Given the description of an element on the screen output the (x, y) to click on. 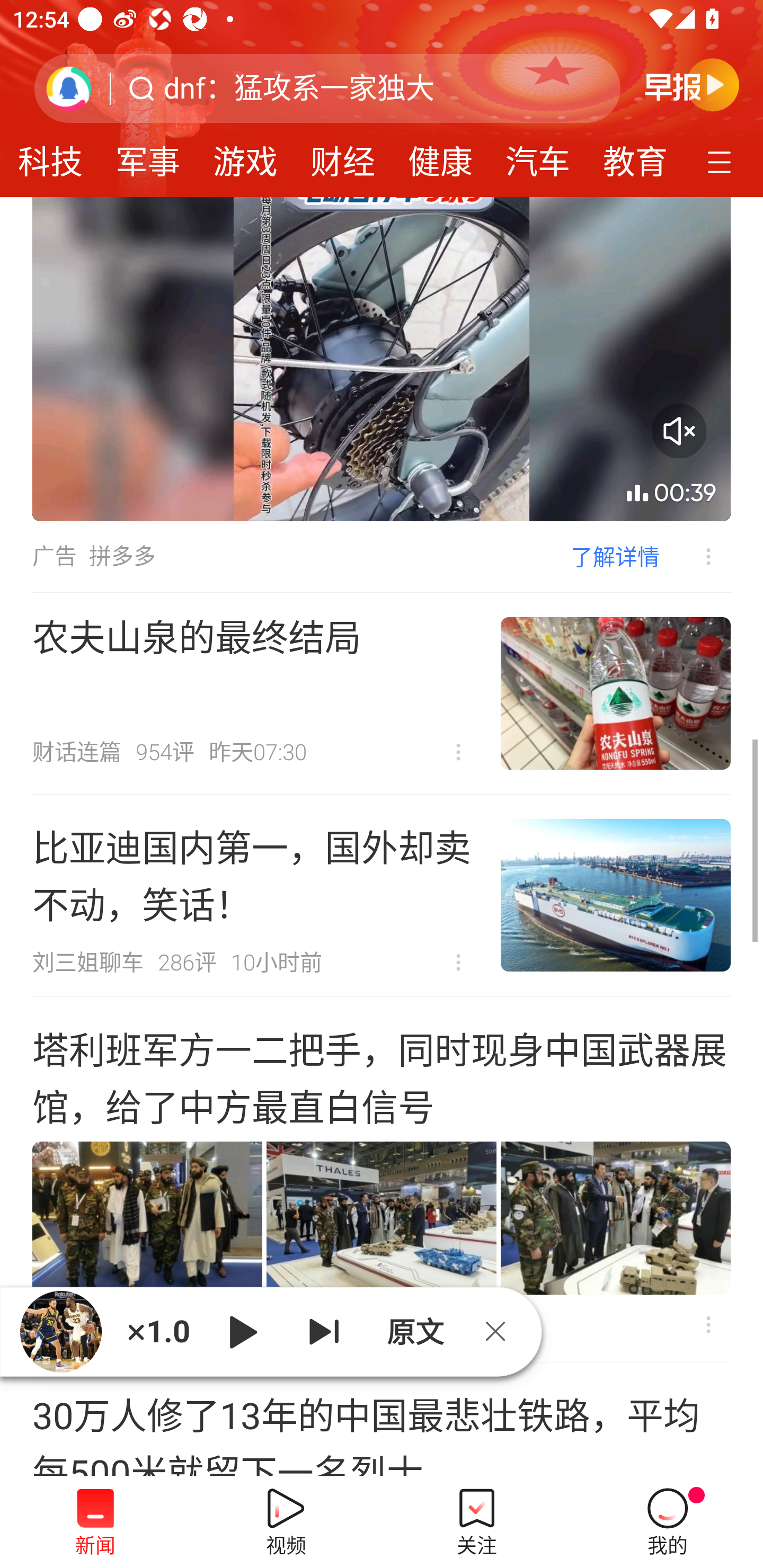
腾讯新闻 (381, 98)
早晚报 (691, 84)
刷新 (68, 88)
dnf：猛攻系一家独大 (299, 88)
科技 (57, 155)
军事 (147, 155)
游戏 (244, 155)
财经 (342, 155)
健康 (440, 155)
汽车 (537, 155)
教育 (626, 155)
 定制频道 (721, 160)
00:39 音量开关 (381, 358)
音量开关 (678, 429)
 不感兴趣 (694, 556)
了解详情 (614, 556)
广告 (54, 556)
拼多多 (122, 556)
农夫山泉的最终结局 财话连篇 954评 昨天07:30  不感兴趣 (381, 692)
 不感兴趣 (458, 752)
比亚迪国内第一，国外却卖不动，笑话！ 刘三姐聊车 286评 10小时前  不感兴趣 (381, 894)
 不感兴趣 (458, 962)
 播放 (242, 1330)
 下一个 (323, 1330)
 关闭 (501, 1330)
播放器 (60, 1331)
原文 (413, 1331)
 1.0 (157, 1330)
 不感兴趣 (707, 1324)
30万人修了13年的中国最悲壮铁路，平均每500米就留下一名烈士 (381, 1419)
